Given the description of an element on the screen output the (x, y) to click on. 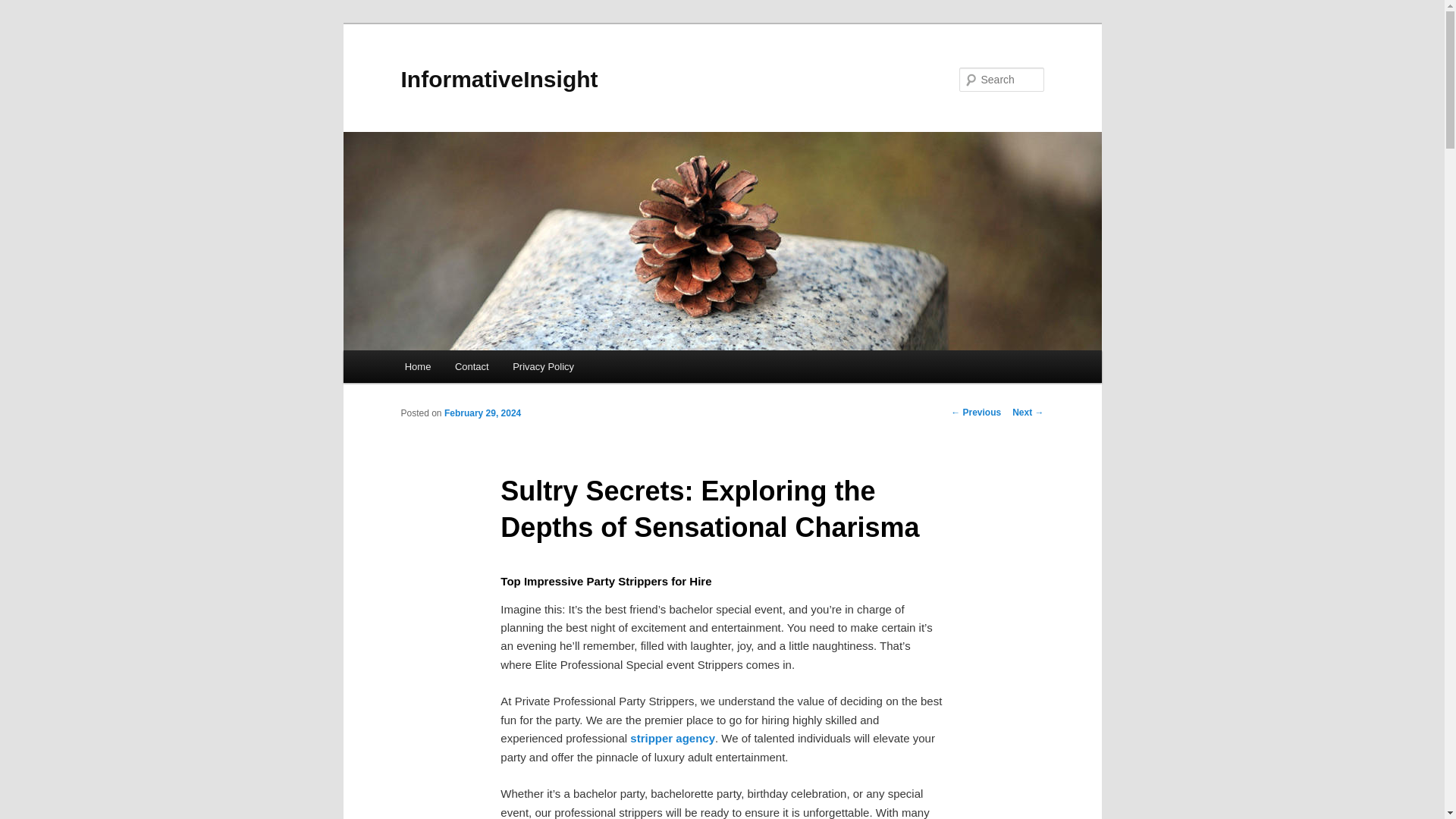
Contact (471, 366)
stripper agency (672, 738)
InformativeInsight (498, 78)
11:55 pm (482, 412)
Home (417, 366)
Search (24, 8)
Privacy Policy (542, 366)
February 29, 2024 (482, 412)
